Given the description of an element on the screen output the (x, y) to click on. 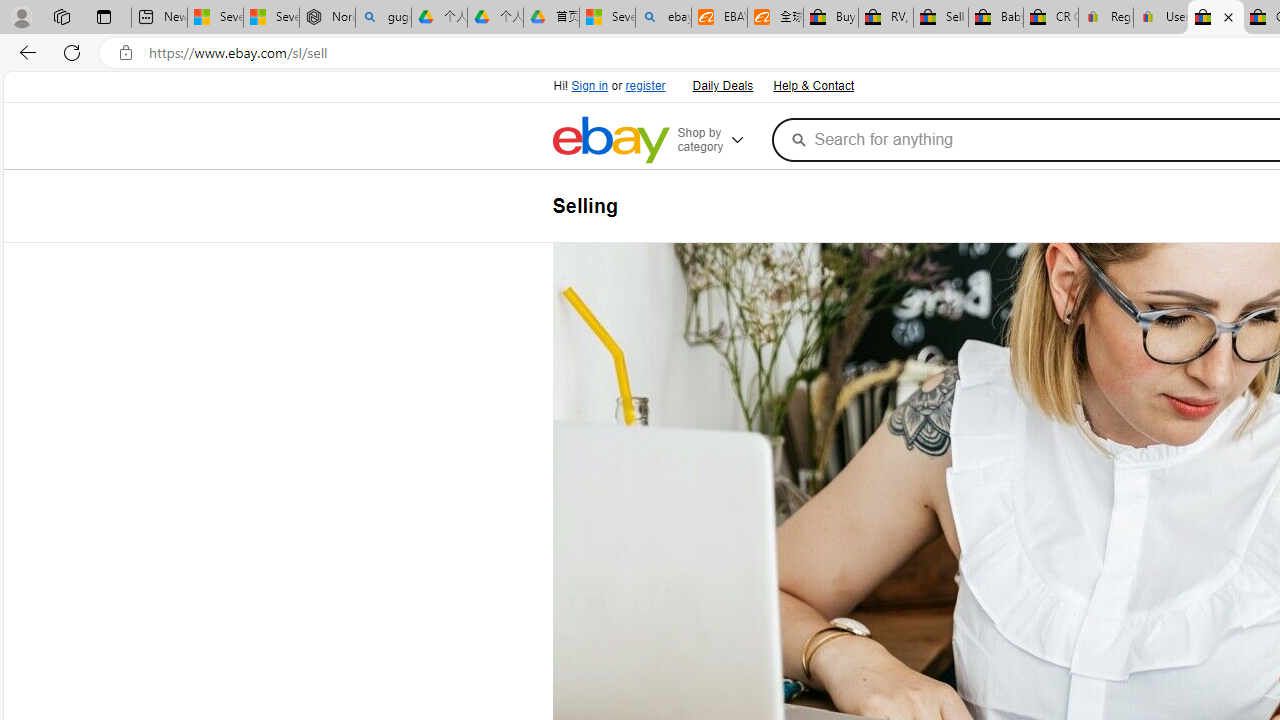
Selling on eBay | Electronics, Fashion, Home & Garden | eBay (1215, 17)
Sign in (589, 85)
eBay Home (610, 139)
Help & Contact (813, 86)
register (644, 85)
User Privacy Notice | eBay (1160, 17)
guge yunpan - Search (382, 17)
Buy Auto Parts & Accessories | eBay (830, 17)
Daily Deals (721, 84)
